Given the description of an element on the screen output the (x, y) to click on. 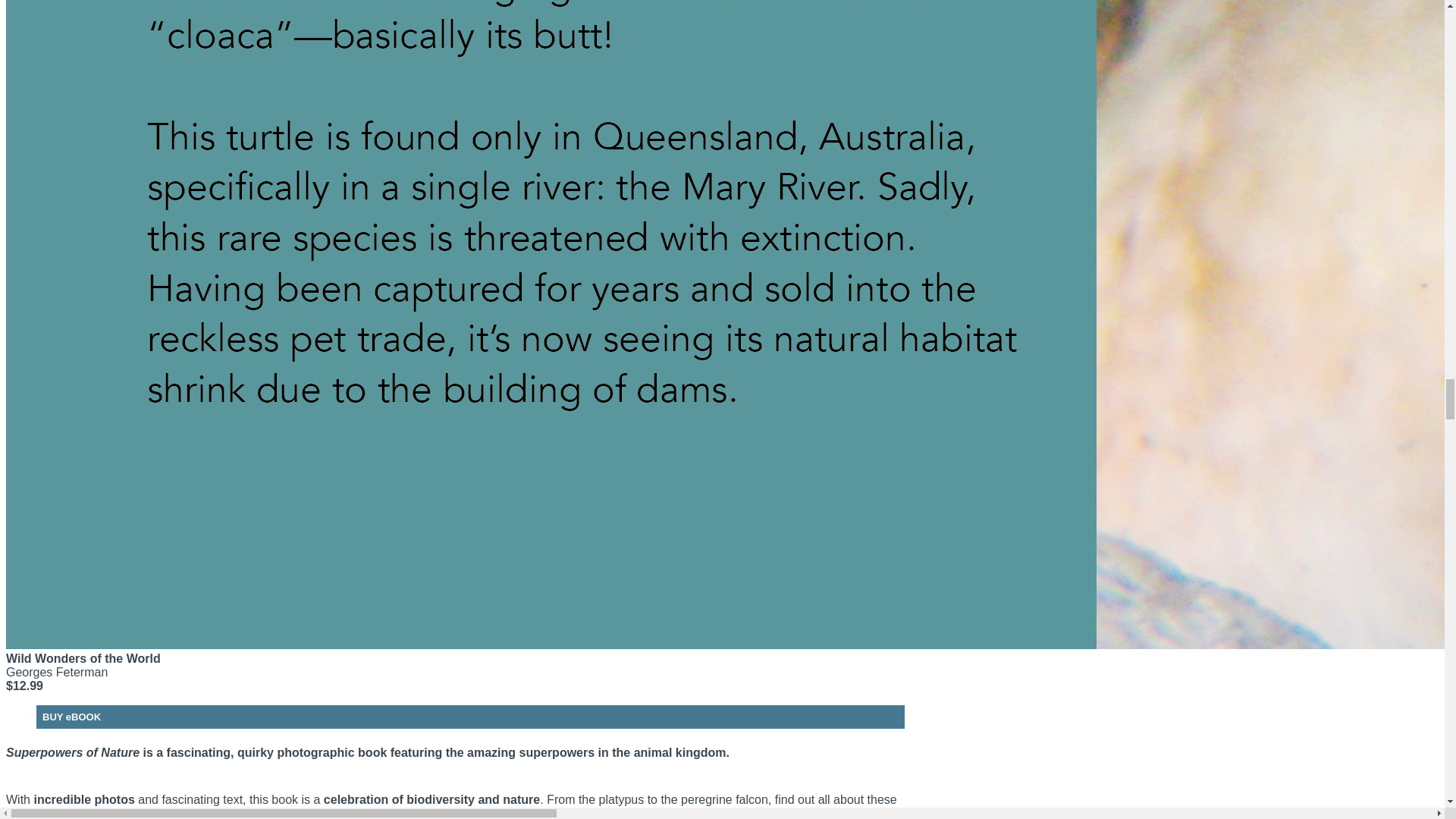
BUY eBOOK (71, 716)
